Given the description of an element on the screen output the (x, y) to click on. 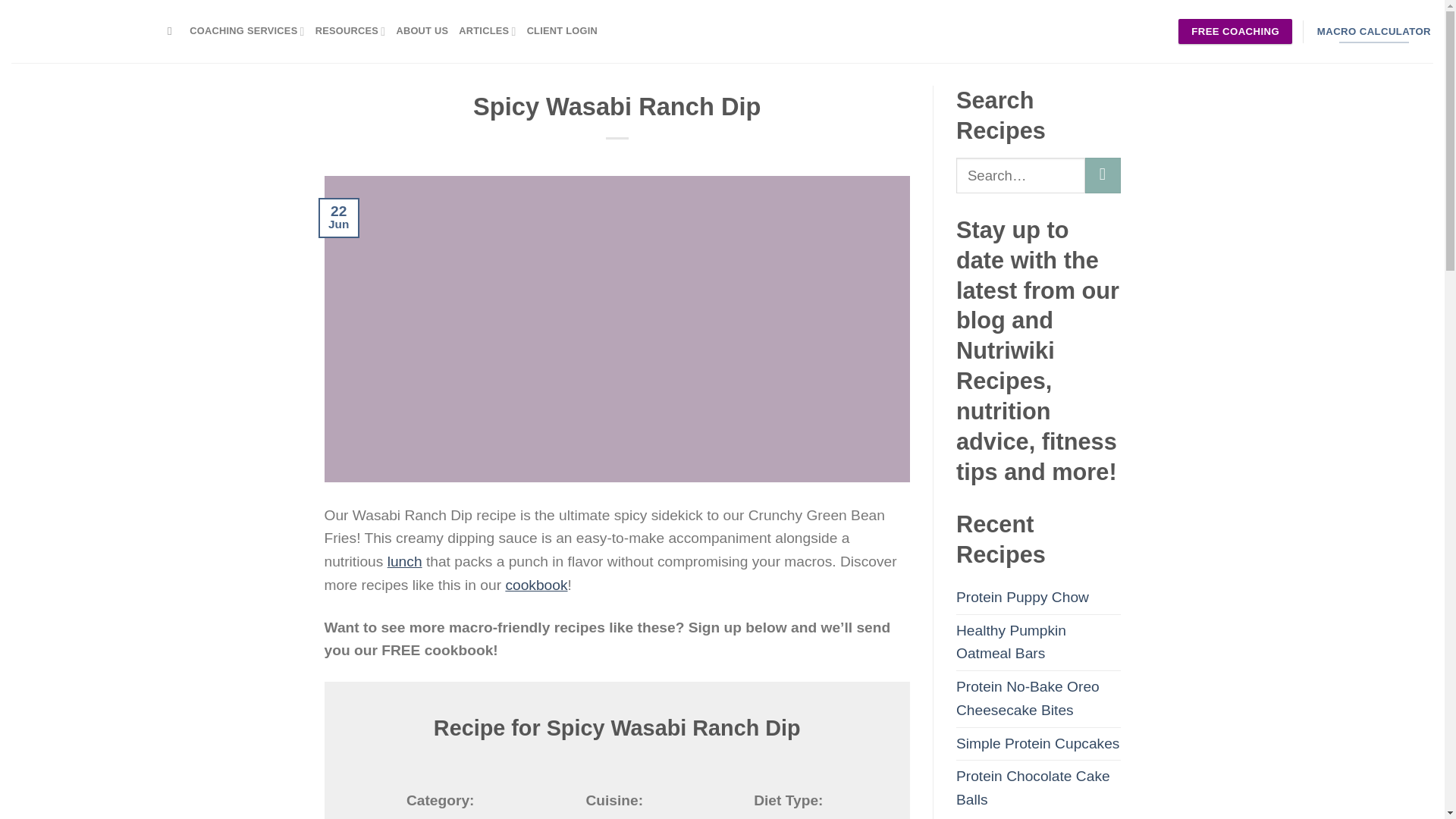
COACHING SERVICES (246, 30)
RESOURCES (350, 30)
CLIENT LOGIN (561, 30)
FREE COACHING (1234, 31)
MACRO CALCULATOR (1373, 31)
ARTICLES (486, 30)
ABOUT US (422, 30)
